Given the description of an element on the screen output the (x, y) to click on. 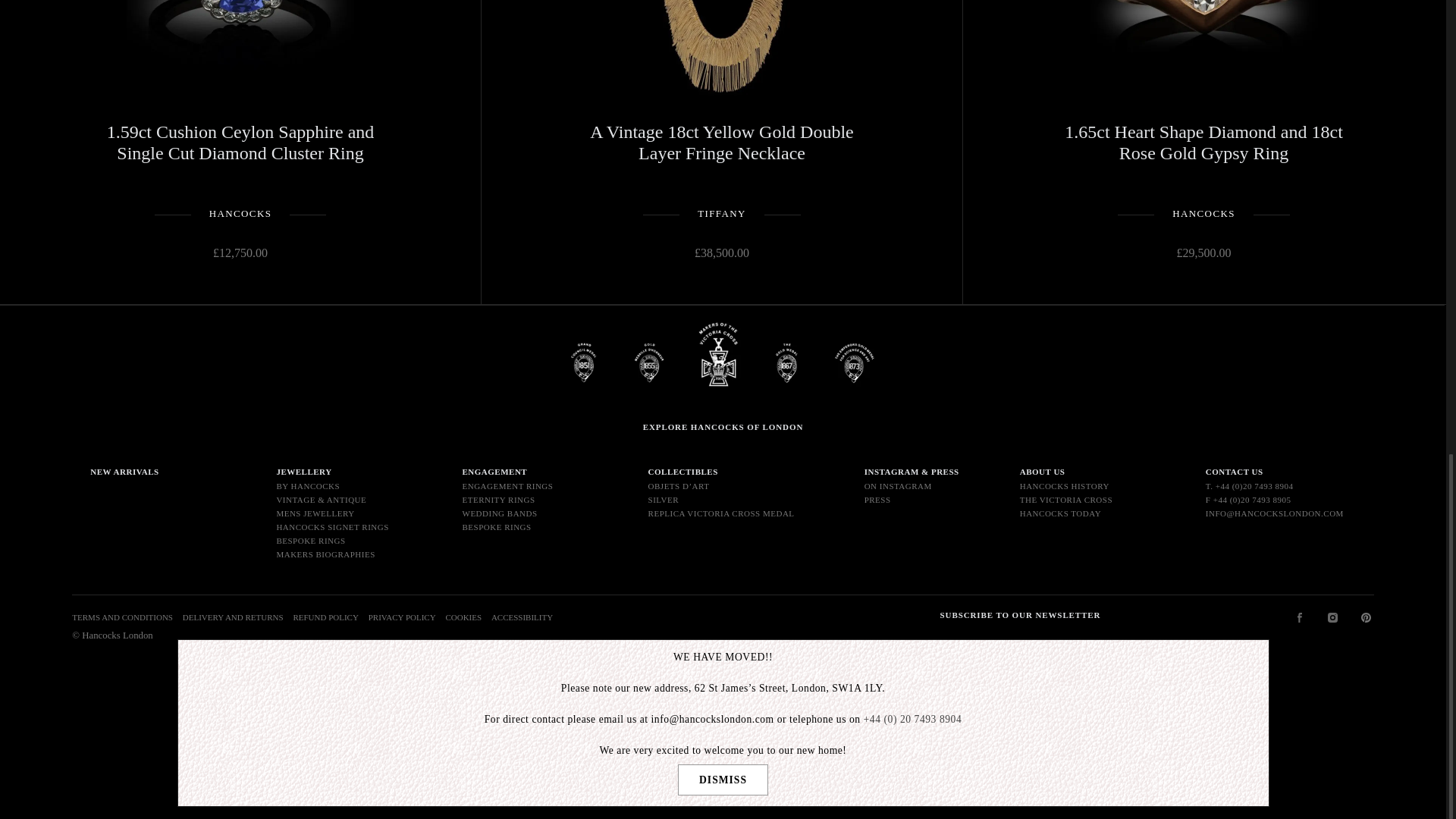
Subscribe (1009, 699)
